Given the description of an element on the screen output the (x, y) to click on. 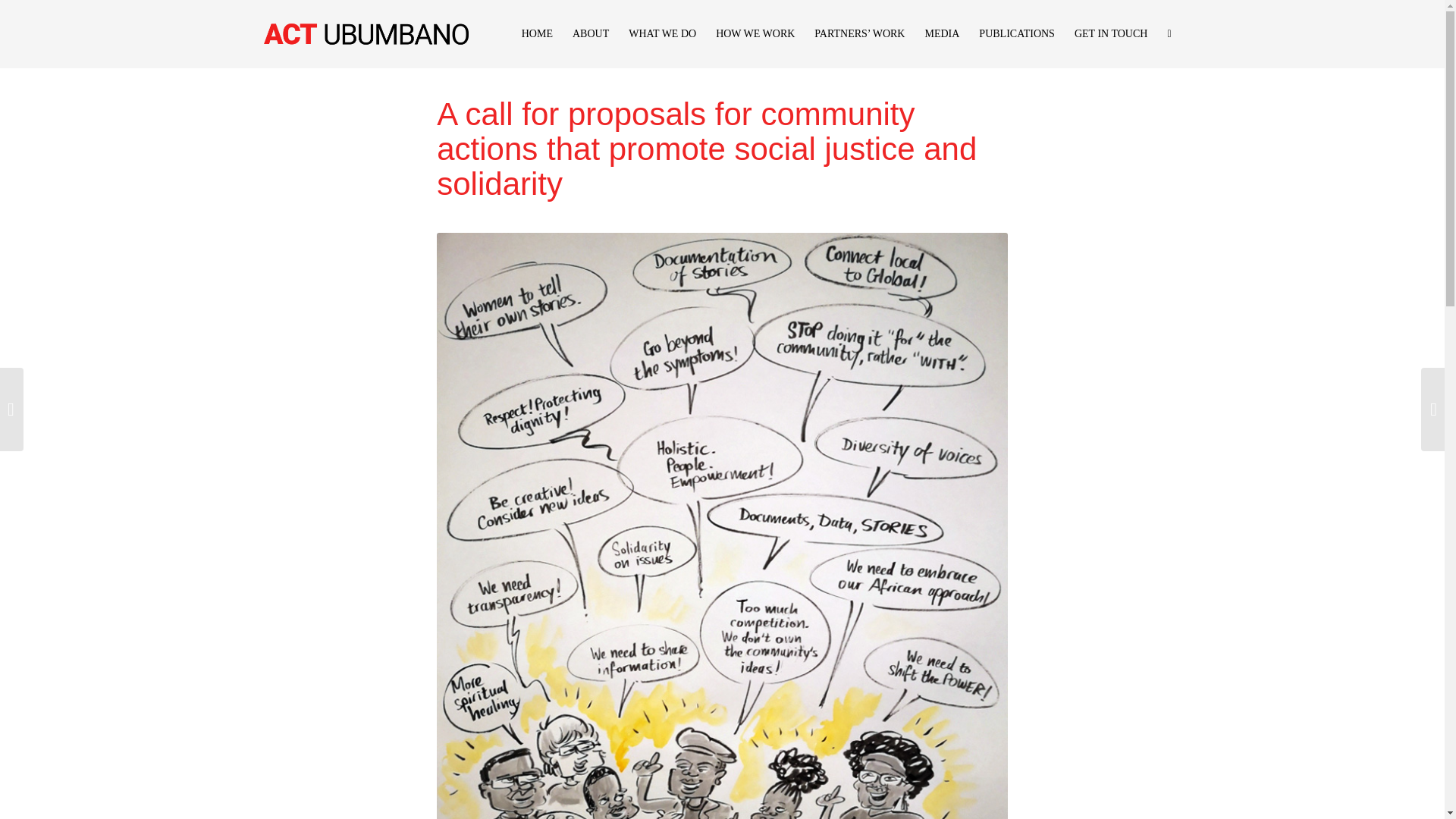
PUBLICATIONS (1016, 33)
Logo (365, 33)
HOW WE WORK (755, 33)
GET IN TOUCH (1110, 33)
WHAT WE DO (662, 33)
